Given the description of an element on the screen output the (x, y) to click on. 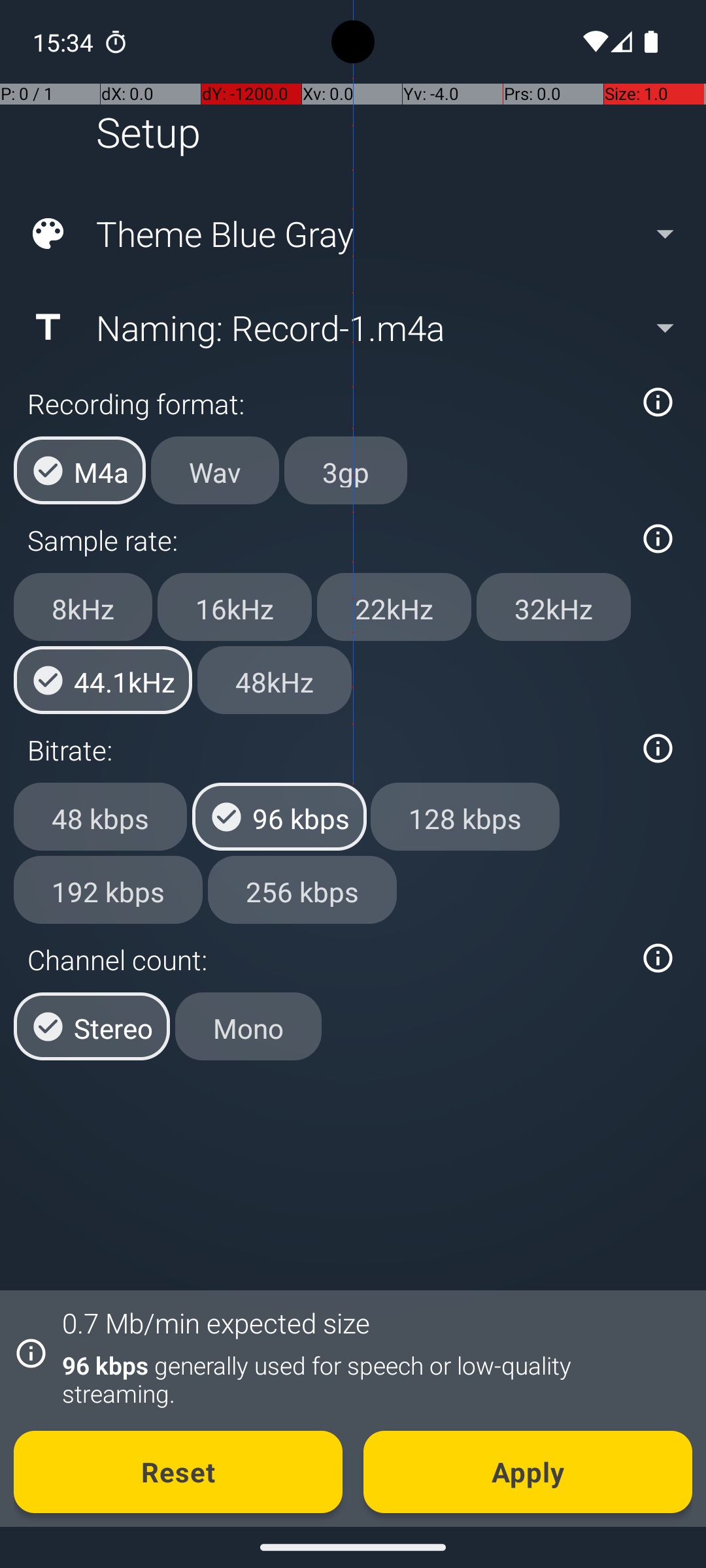
0.7 Mb/min expected size Element type: android.widget.TextView (215, 1322)
96 kbps generally used for speech or low-quality streaming. Element type: android.widget.TextView (370, 1378)
Wifi signal full. Element type: android.widget.FrameLayout (593, 41)
